Given the description of an element on the screen output the (x, y) to click on. 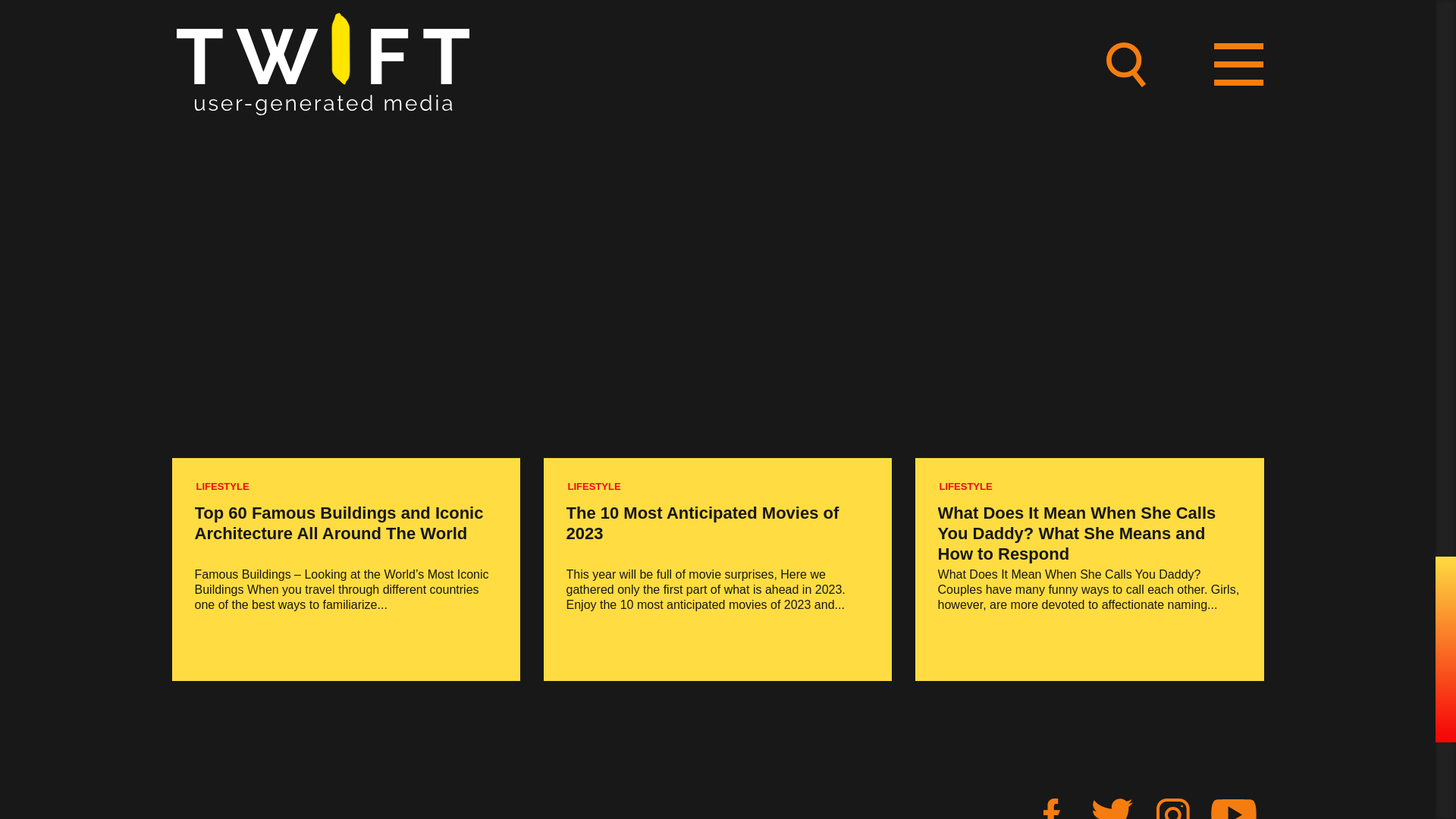
The 10 Most Anticipated Movies of 2023 (703, 522)
